Given the description of an element on the screen output the (x, y) to click on. 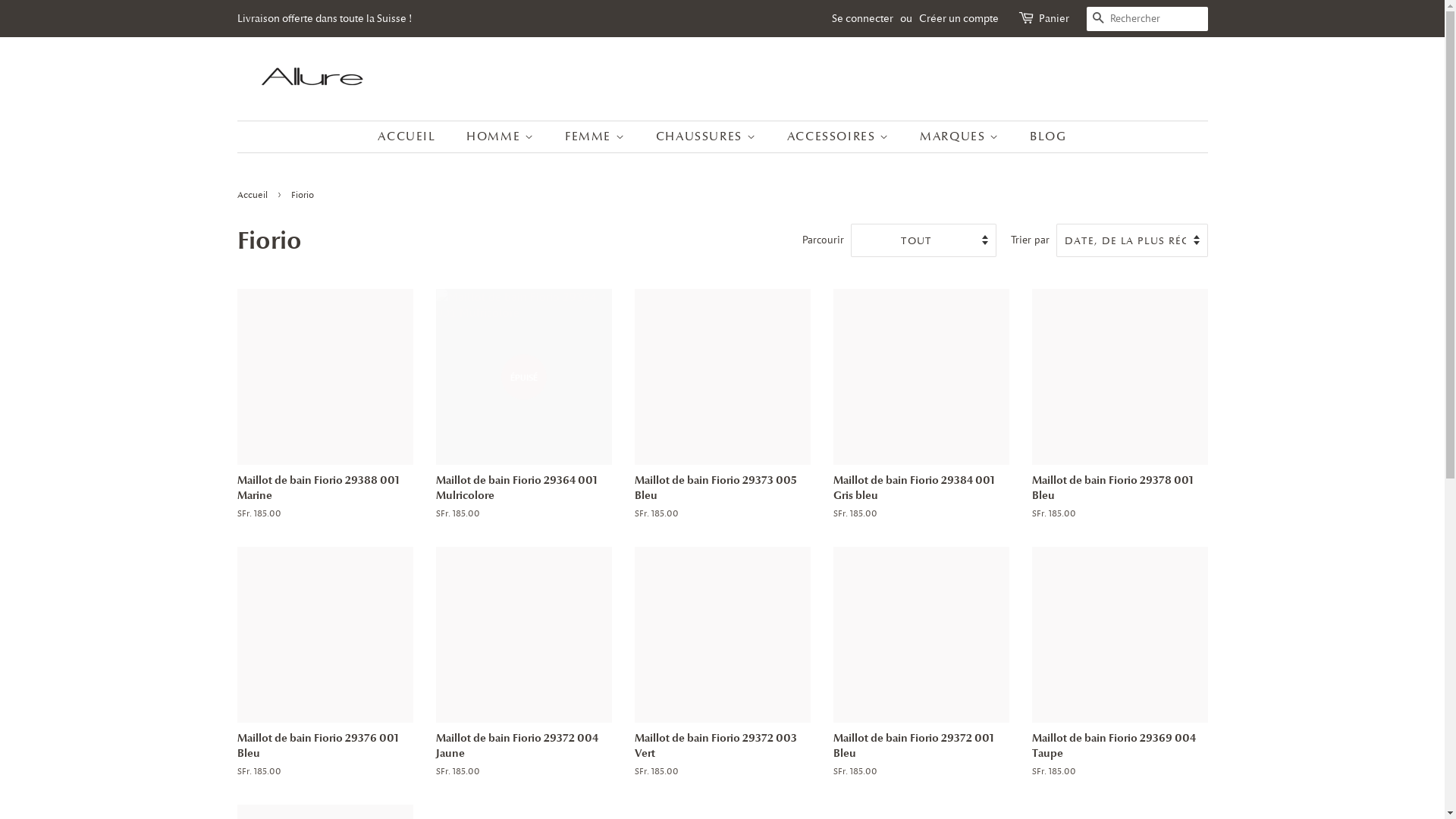
MARQUES Element type: text (960, 136)
ACCUEIL Element type: text (413, 136)
HOMME Element type: text (502, 136)
BLOG Element type: text (1042, 136)
CHAUSSURES Element type: text (707, 136)
FEMME Element type: text (596, 136)
RECHERCHE Element type: text (1097, 18)
Se connecter Element type: text (861, 18)
Accueil Element type: text (253, 194)
Panier Element type: text (1053, 18)
ACCESSOIRES Element type: text (839, 136)
